Given the description of an element on the screen output the (x, y) to click on. 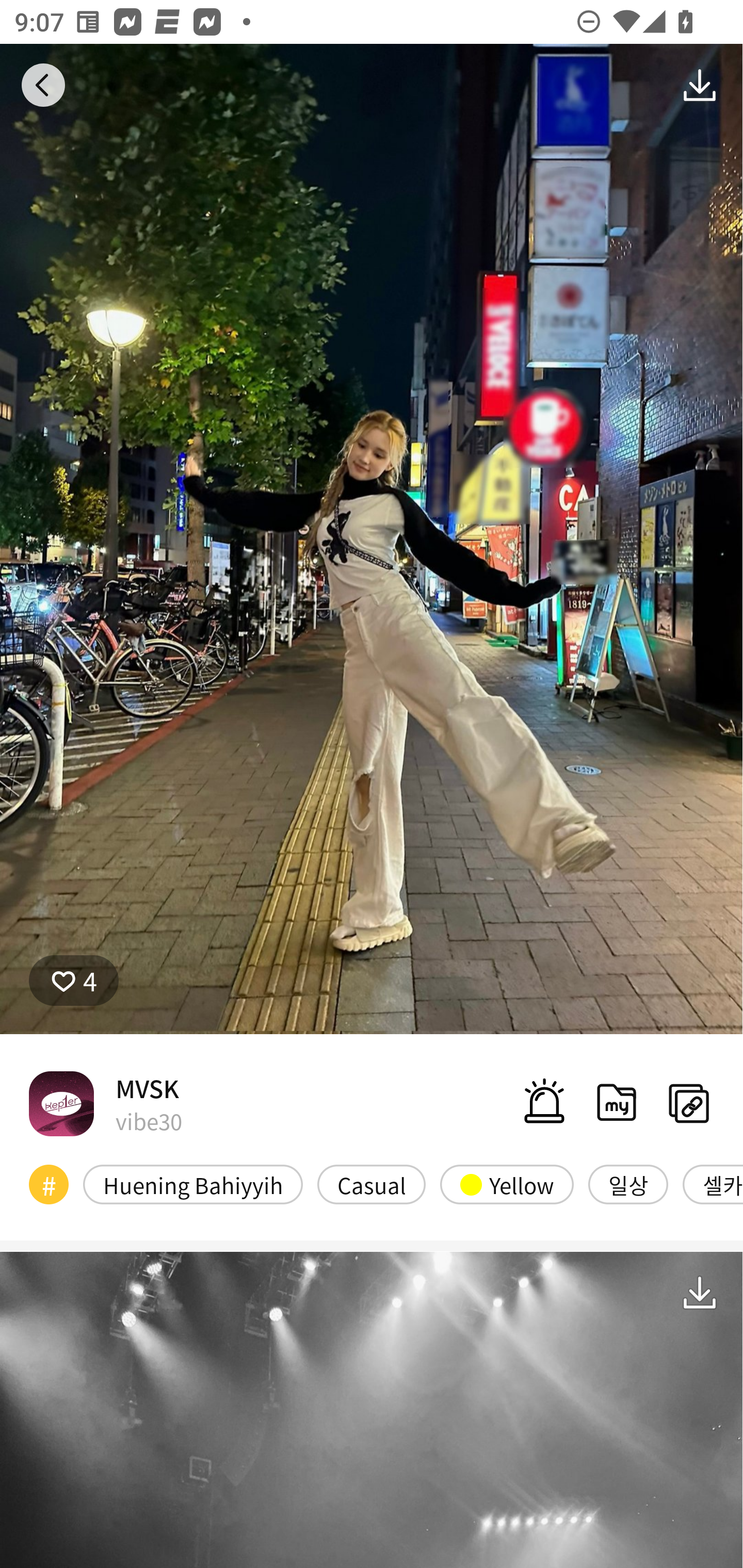
4 (73, 980)
MVSK vibe30 (105, 1102)
Huening Bahiyyih (193, 1184)
Casual (371, 1184)
Yellow (506, 1184)
일상 (627, 1184)
셀카 (712, 1184)
